Given the description of an element on the screen output the (x, y) to click on. 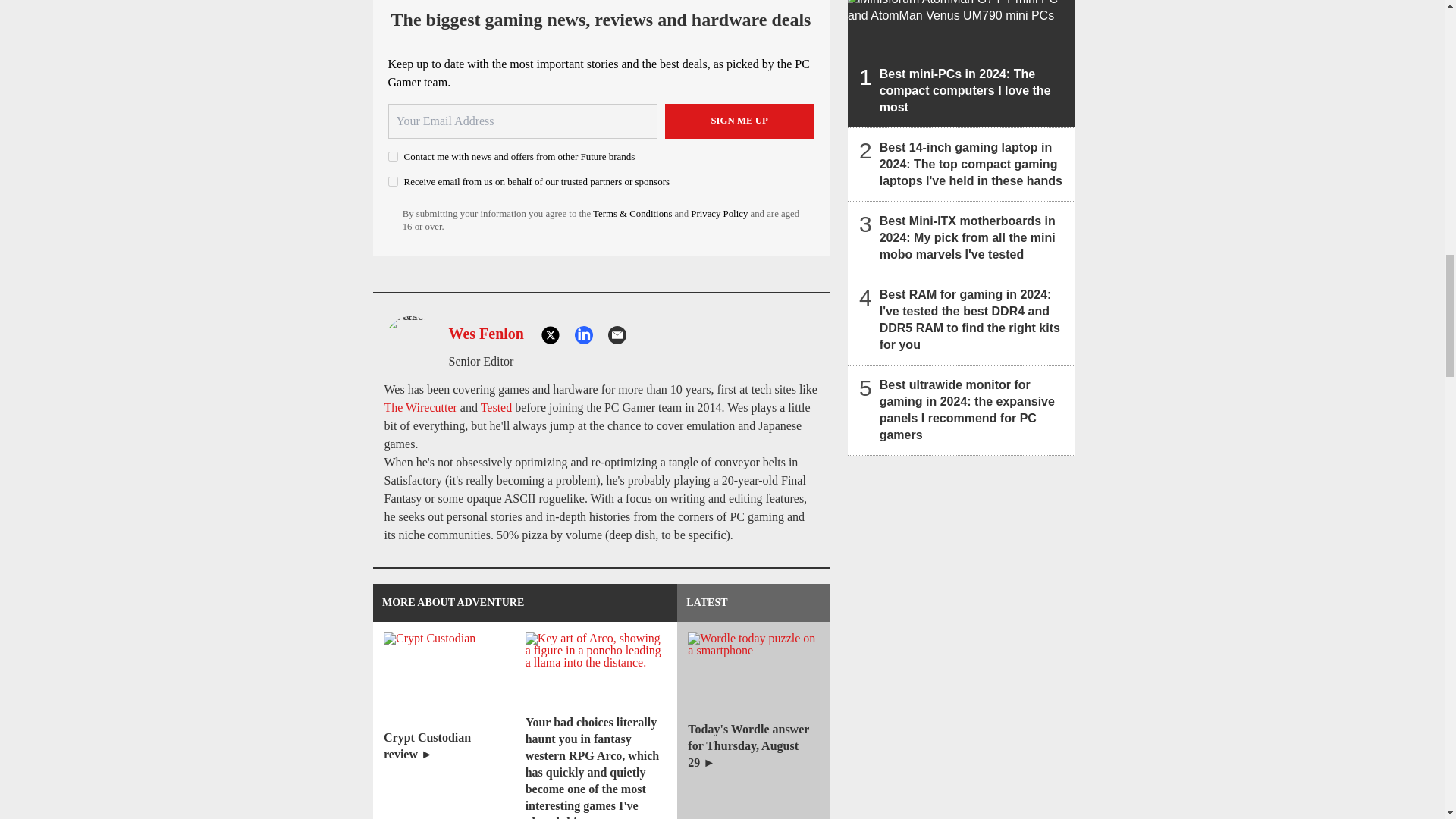
on (392, 181)
Sign me up (739, 121)
on (392, 156)
